Given the description of an element on the screen output the (x, y) to click on. 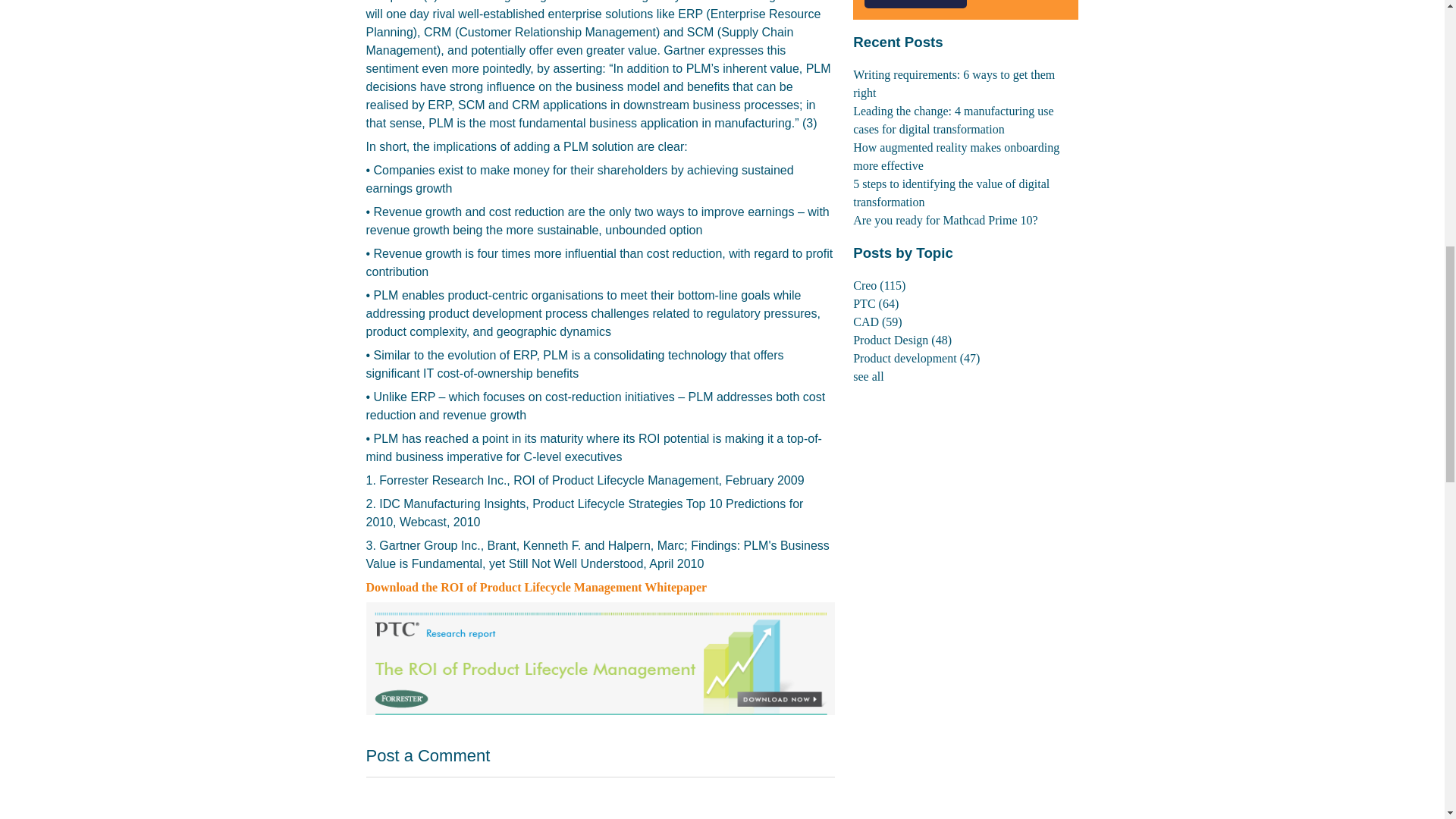
Subscribe (915, 4)
Download the ROI of Product Lifecycle Management Whitepaper (535, 586)
